Given the description of an element on the screen output the (x, y) to click on. 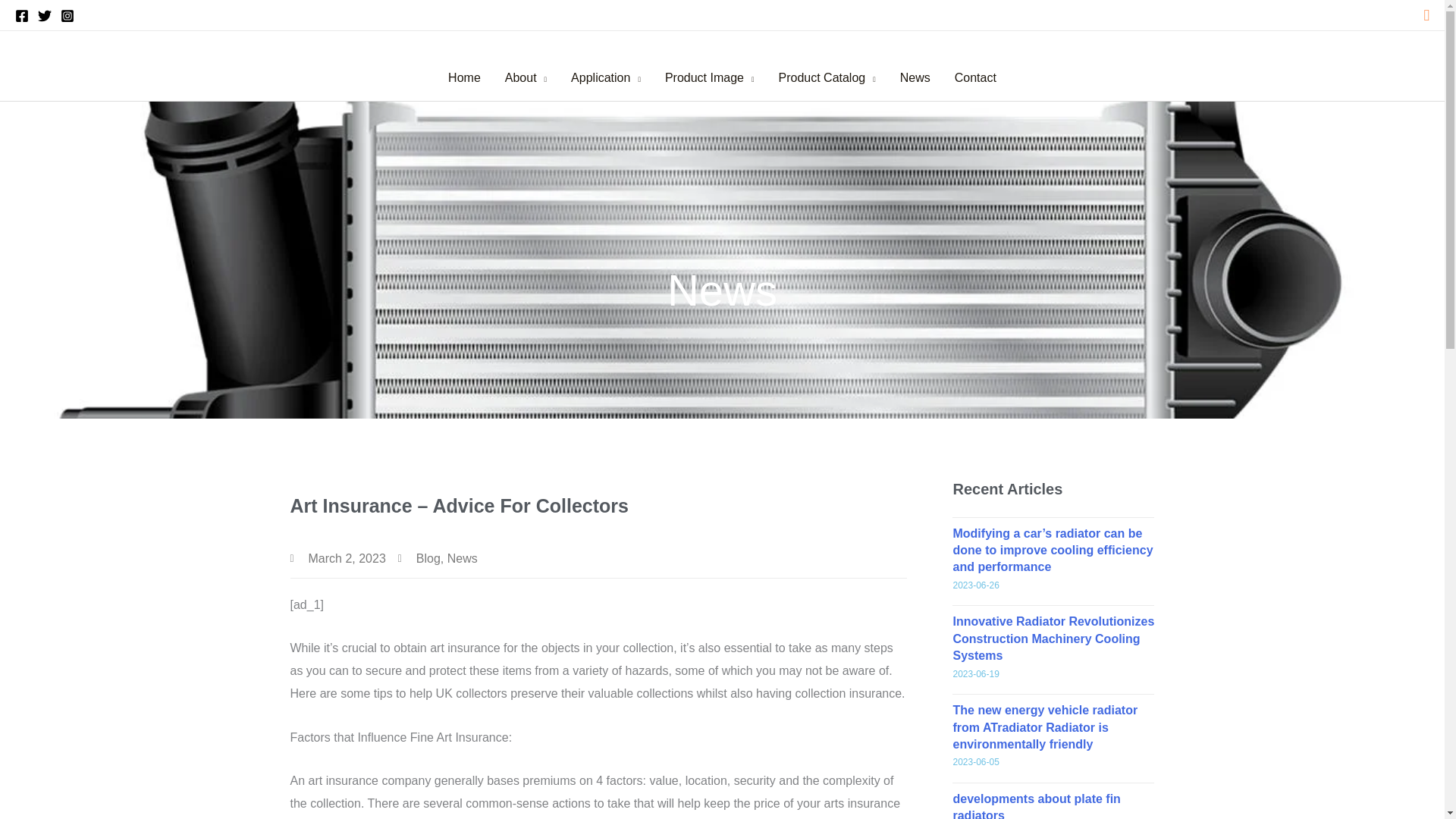
Product Image (709, 77)
Application (605, 77)
About (526, 77)
Home (464, 77)
Product Catalog (825, 77)
